Given the description of an element on the screen output the (x, y) to click on. 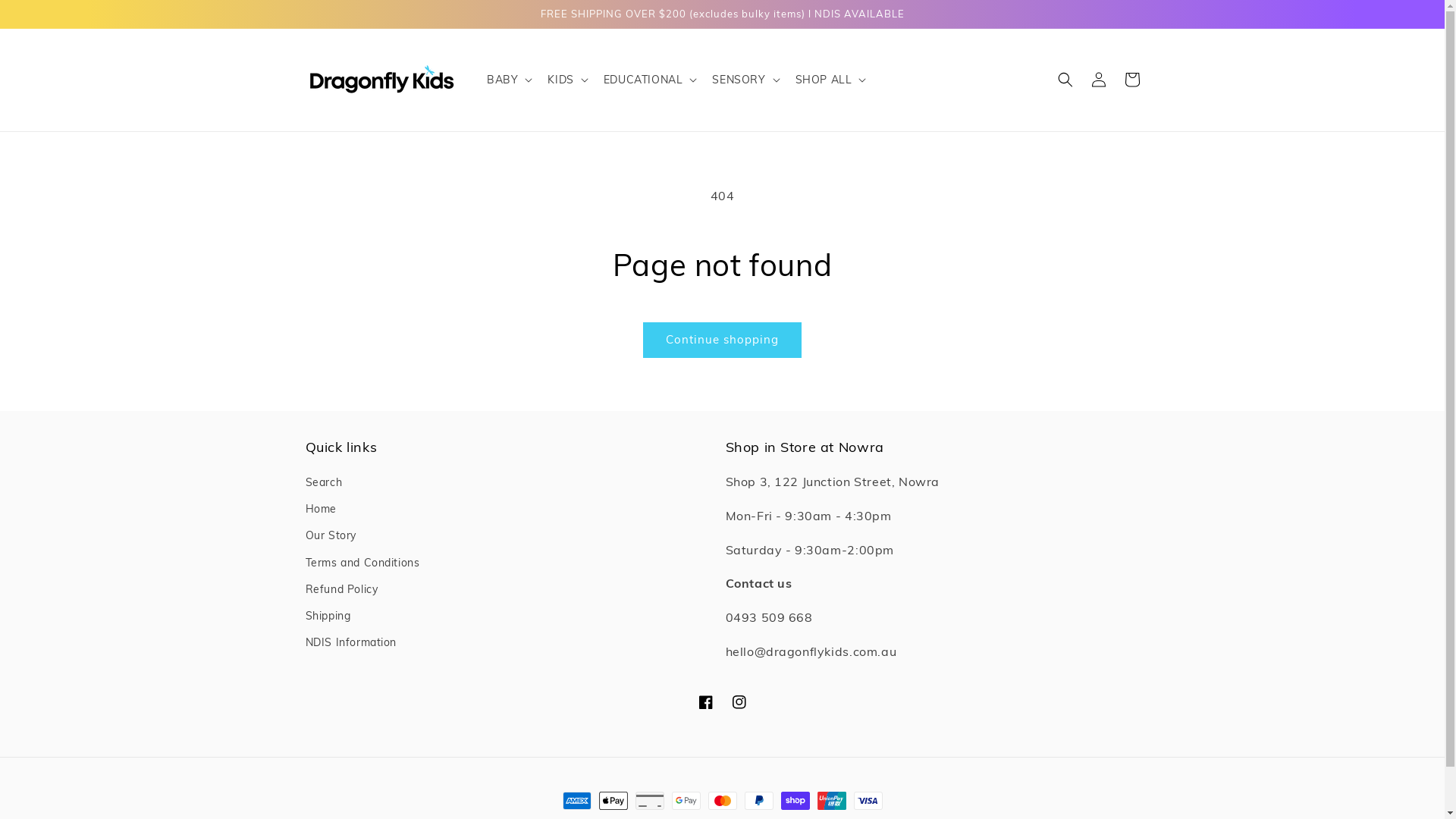
Our Story Element type: text (329, 535)
Shipping Element type: text (327, 615)
Refund Policy Element type: text (340, 589)
Continue shopping Element type: text (722, 339)
Home Element type: text (319, 508)
Log in Element type: text (1097, 79)
Facebook Element type: text (704, 701)
NDIS Information Element type: text (350, 642)
Terms and Conditions Element type: text (361, 562)
Instagram Element type: text (738, 701)
Cart Element type: text (1131, 79)
Search Element type: text (323, 484)
